Given the description of an element on the screen output the (x, y) to click on. 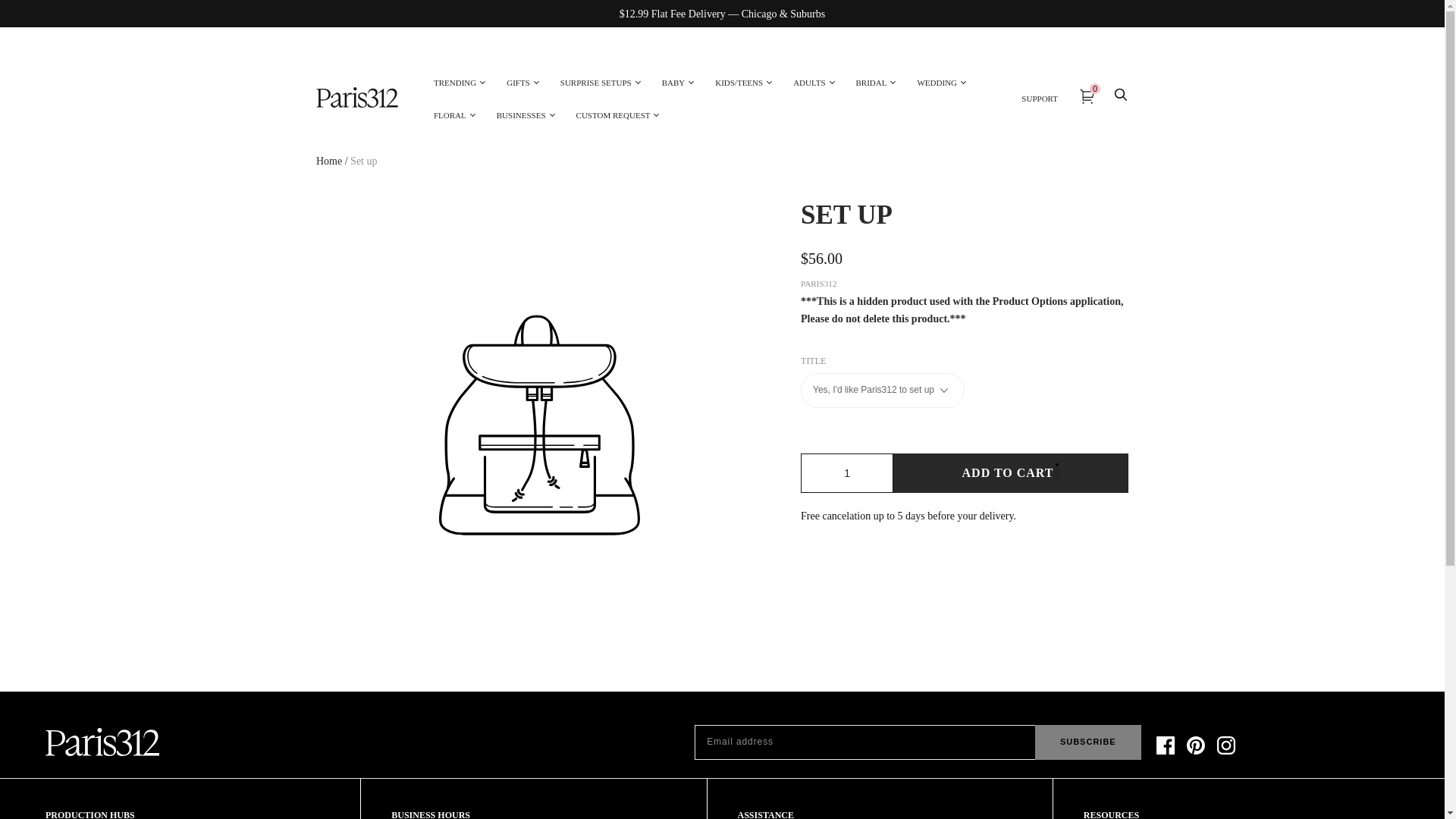
SURPRISE SETUPS (595, 82)
TRENDING (454, 82)
Home (328, 161)
GIFTS (518, 82)
BABY (673, 82)
